Given the description of an element on the screen output the (x, y) to click on. 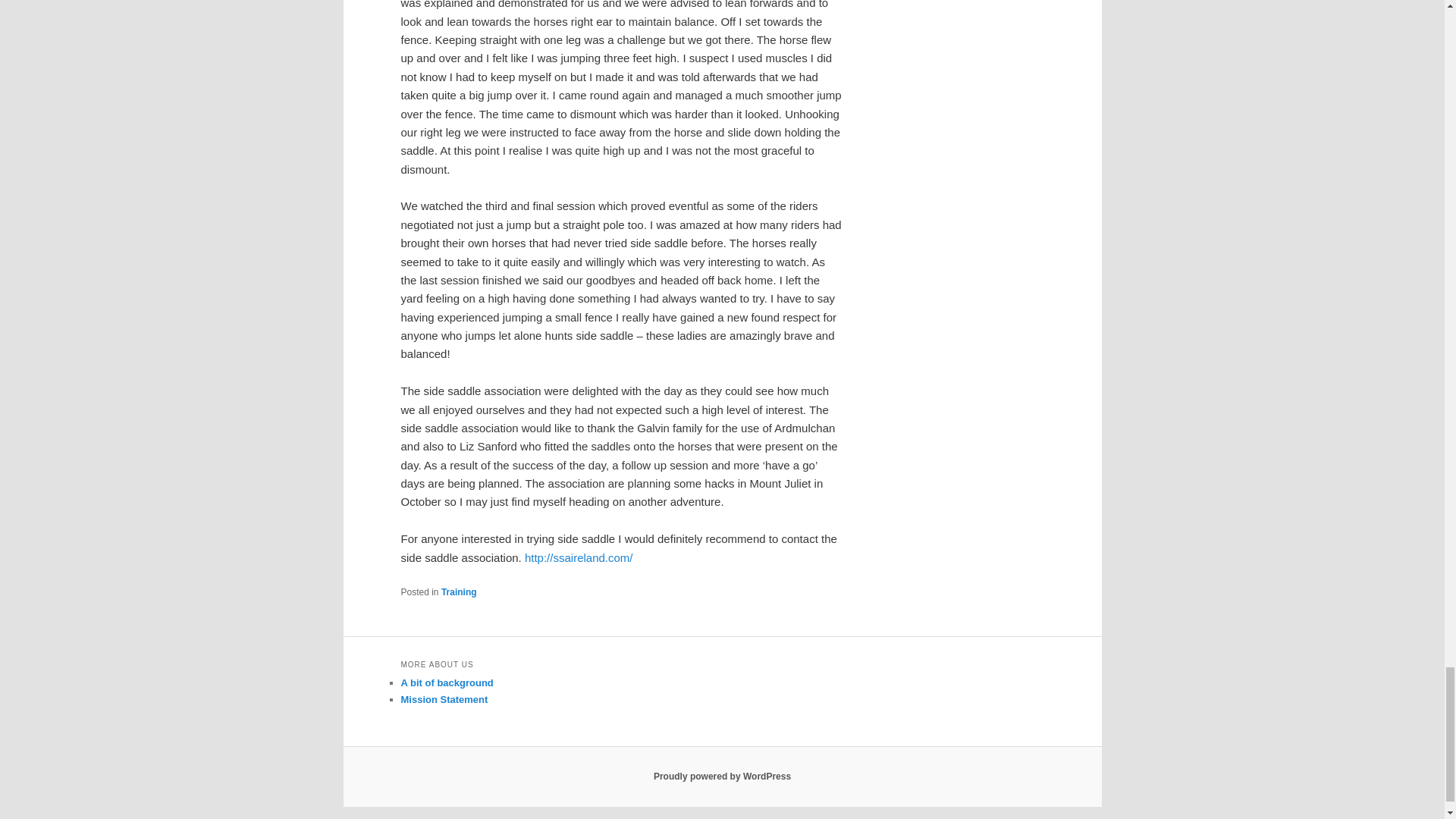
Semantic Personal Publishing Platform (721, 776)
